Given the description of an element on the screen output the (x, y) to click on. 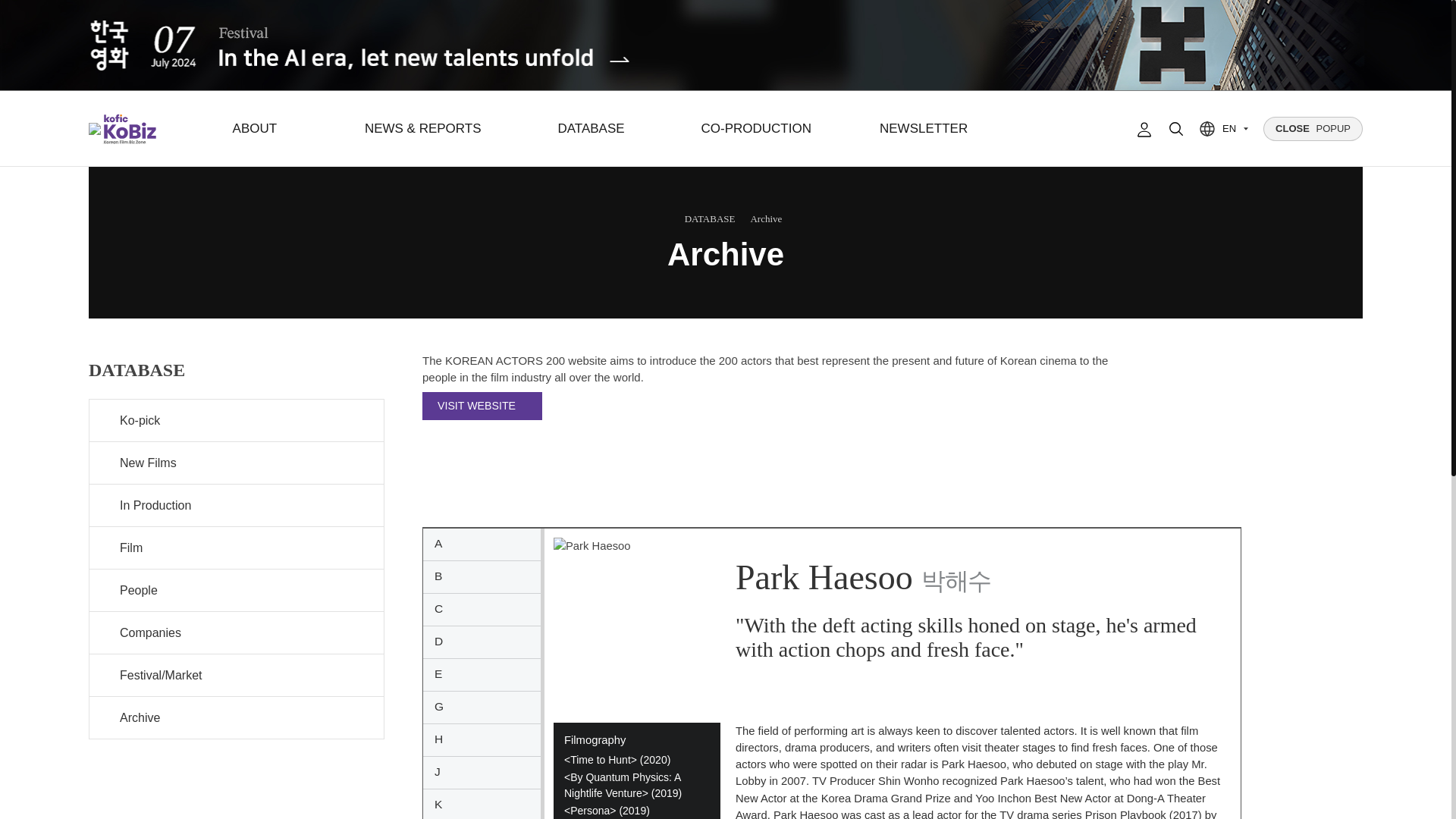
Kobiz (127, 128)
DATABASE (590, 128)
NEWSLETTER (923, 128)
ABOUT (254, 128)
ABOUT (254, 128)
POPUP (1312, 128)
CO-PRODUCTION (755, 128)
NEWSLETTER (923, 128)
Kofic (94, 128)
Search open (1176, 128)
VISIT WEBSITE (481, 406)
DATABASE (590, 128)
Login (1144, 128)
CO-PRODUCTION (755, 128)
